Given the description of an element on the screen output the (x, y) to click on. 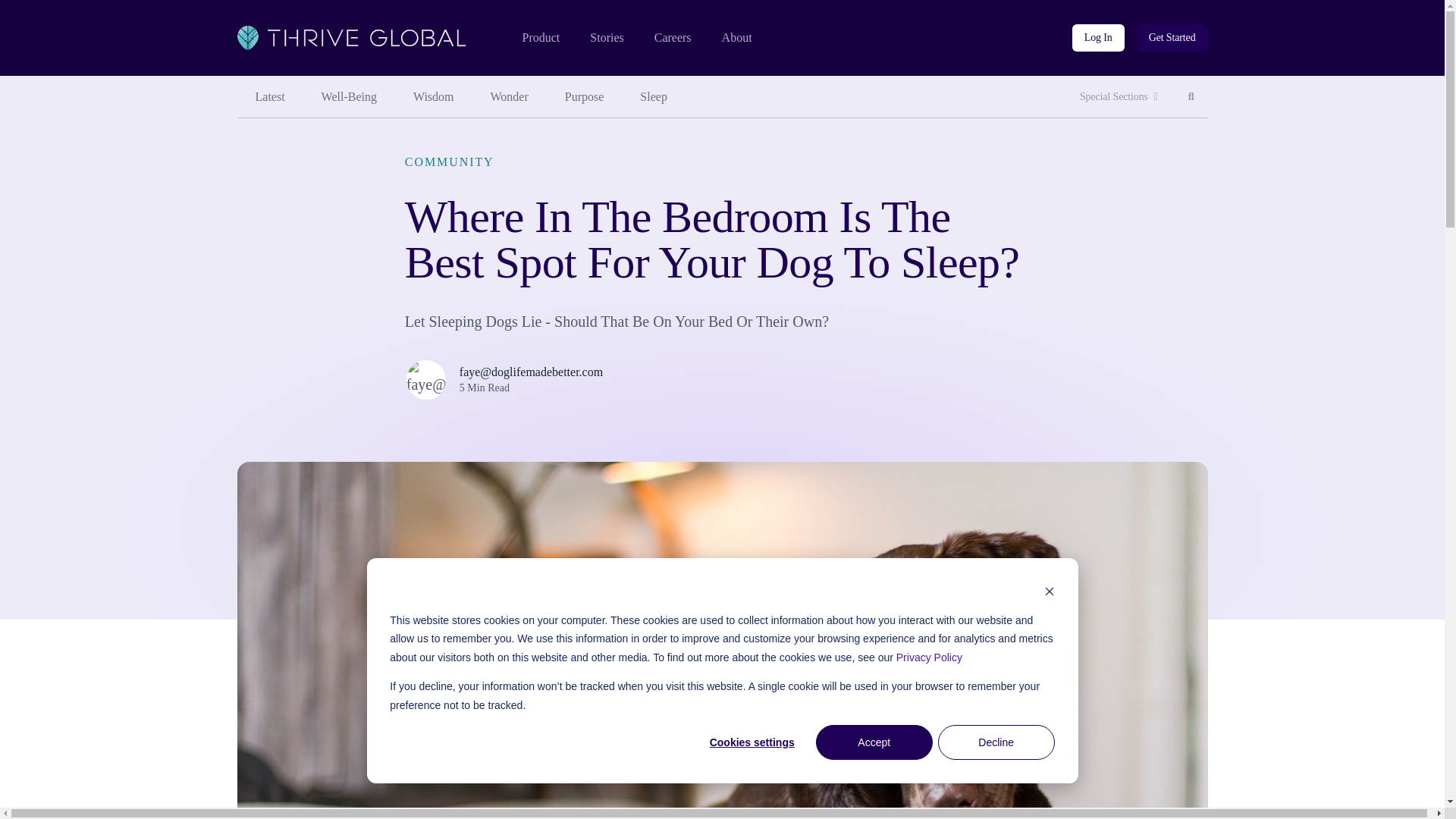
Well-Being (348, 96)
Get Started (1172, 37)
Careers (672, 37)
About (737, 37)
Special Sections (1118, 97)
Log In (1097, 37)
Product (540, 37)
Wisdom (1191, 97)
Purpose (432, 96)
Stories (585, 96)
Sleep (606, 37)
Wonder (653, 96)
Latest (509, 96)
